Given the description of an element on the screen output the (x, y) to click on. 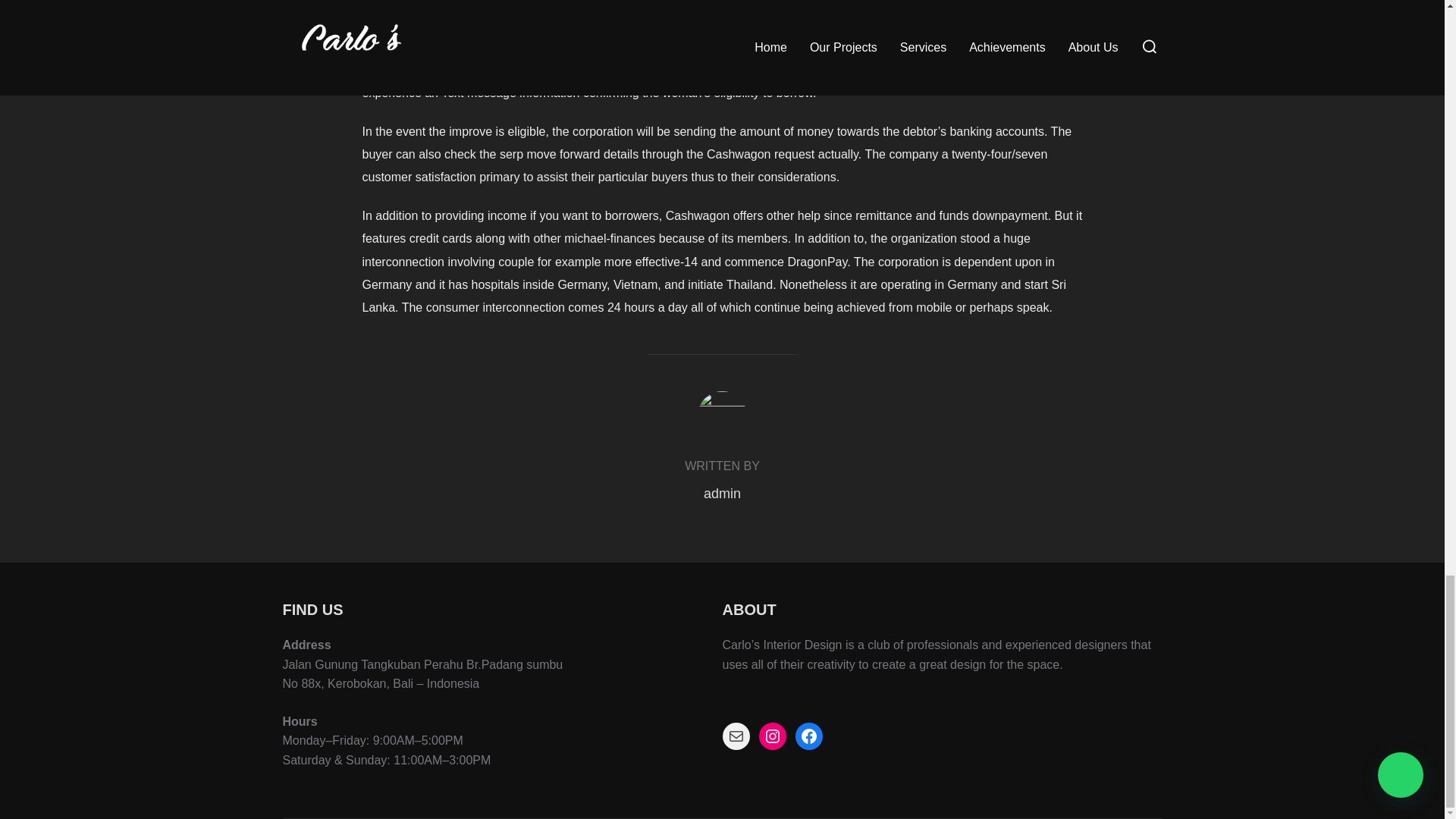
Mail (735, 736)
Posts by admin (722, 493)
Facebook (808, 736)
admin (722, 493)
Instagram (772, 736)
